Given the description of an element on the screen output the (x, y) to click on. 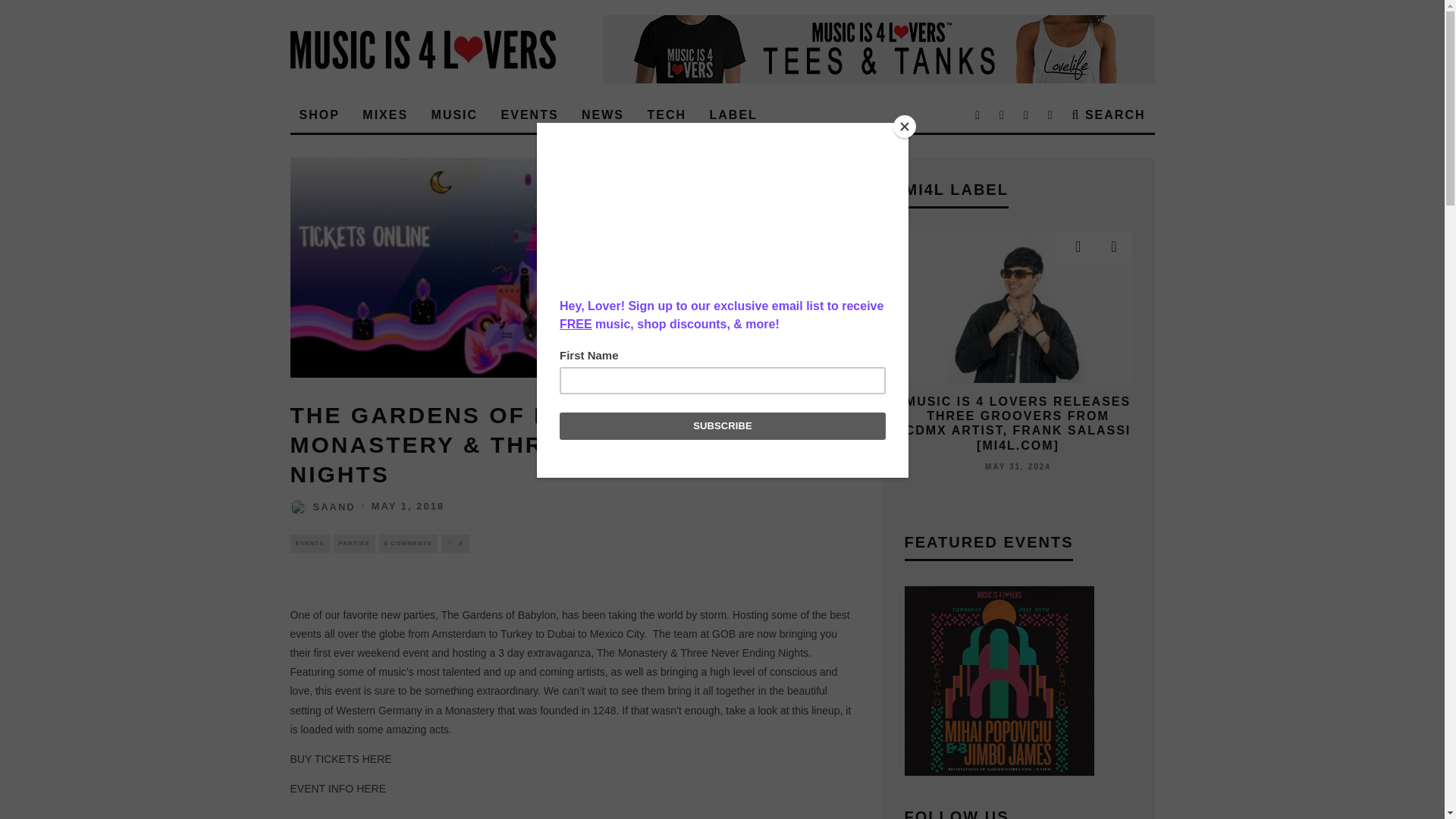
Search (1108, 115)
Log In (721, 409)
View all posts in EVENTS (309, 543)
View all posts in PARTIES (354, 543)
